Given the description of an element on the screen output the (x, y) to click on. 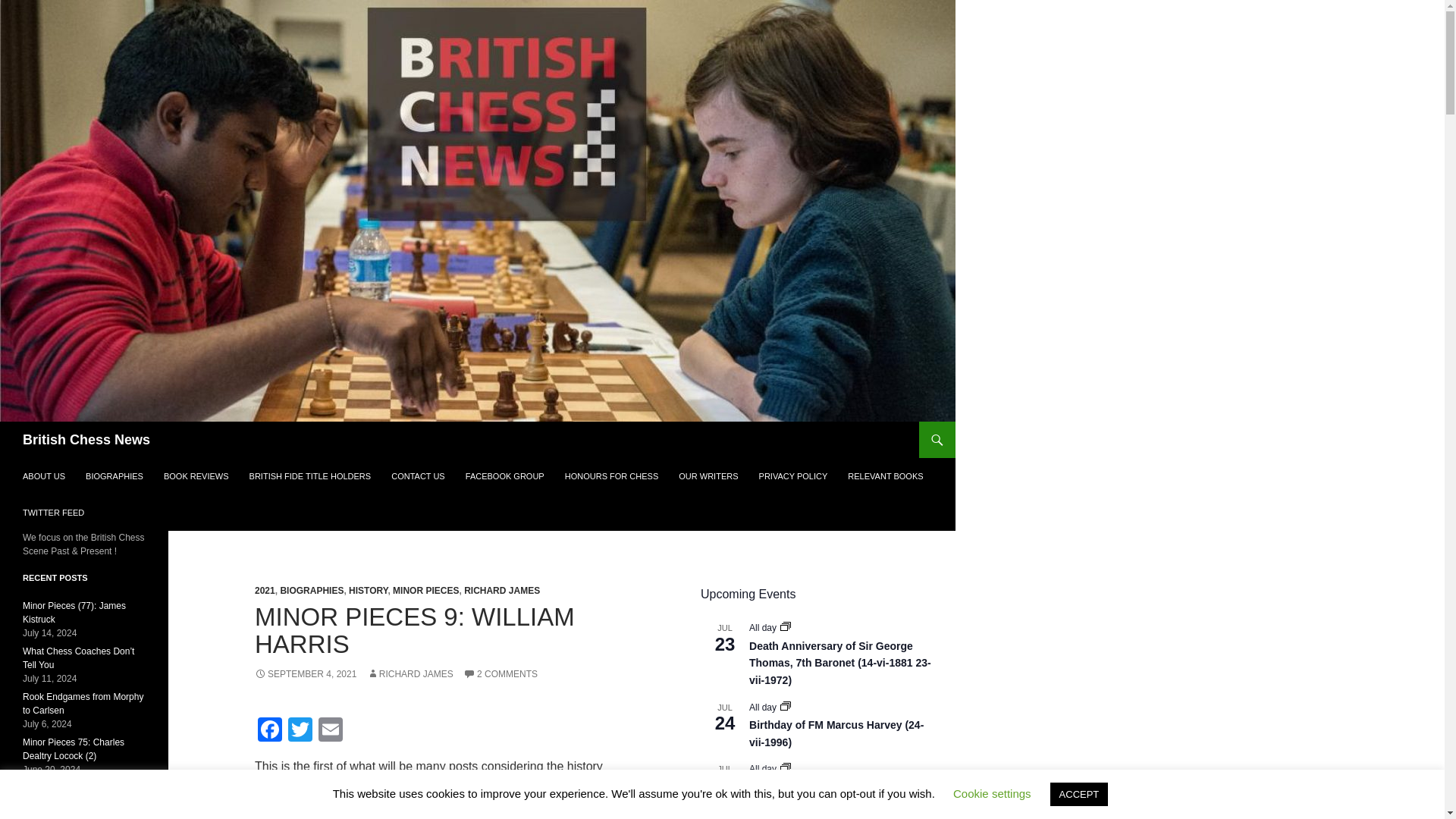
Twitter (300, 731)
Event Series (785, 706)
Event Series (785, 768)
BIOGRAPHIES (311, 590)
PRIVACY POLICY (793, 475)
BIOGRAPHIES (114, 475)
Event Series (785, 767)
ABOUT US (43, 475)
Event Series (785, 705)
BRITISH FIDE TITLE HOLDERS (310, 475)
SEPTEMBER 4, 2021 (305, 674)
FACEBOOK GROUP (505, 475)
Facebook (269, 731)
HONOURS FOR CHESS (611, 475)
